Given the description of an element on the screen output the (x, y) to click on. 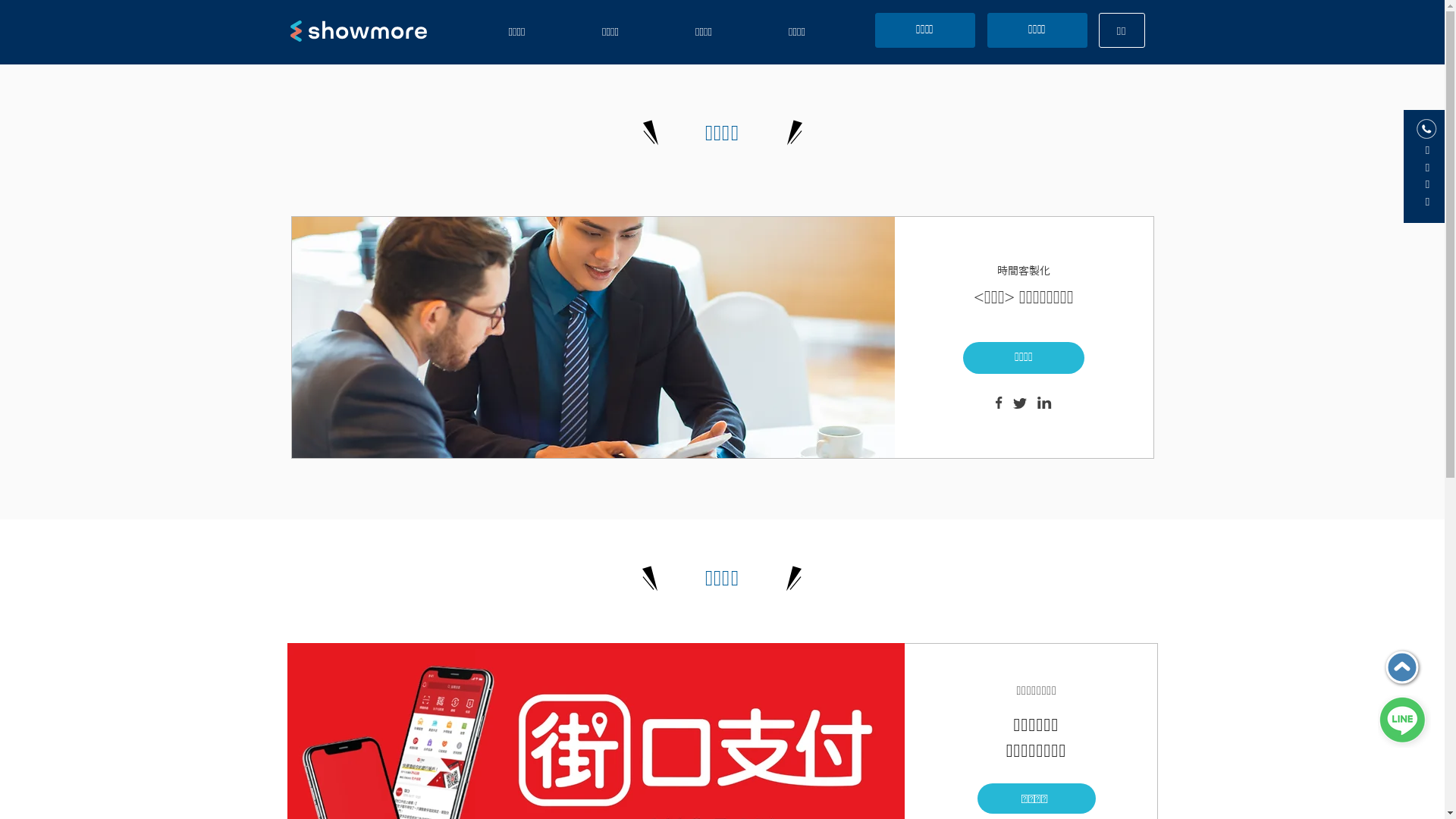
TWIPLA (Visitor Analytics) Element type: hover (1442, 4)
line.png Element type: hover (1403, 721)
